Given the description of an element on the screen output the (x, y) to click on. 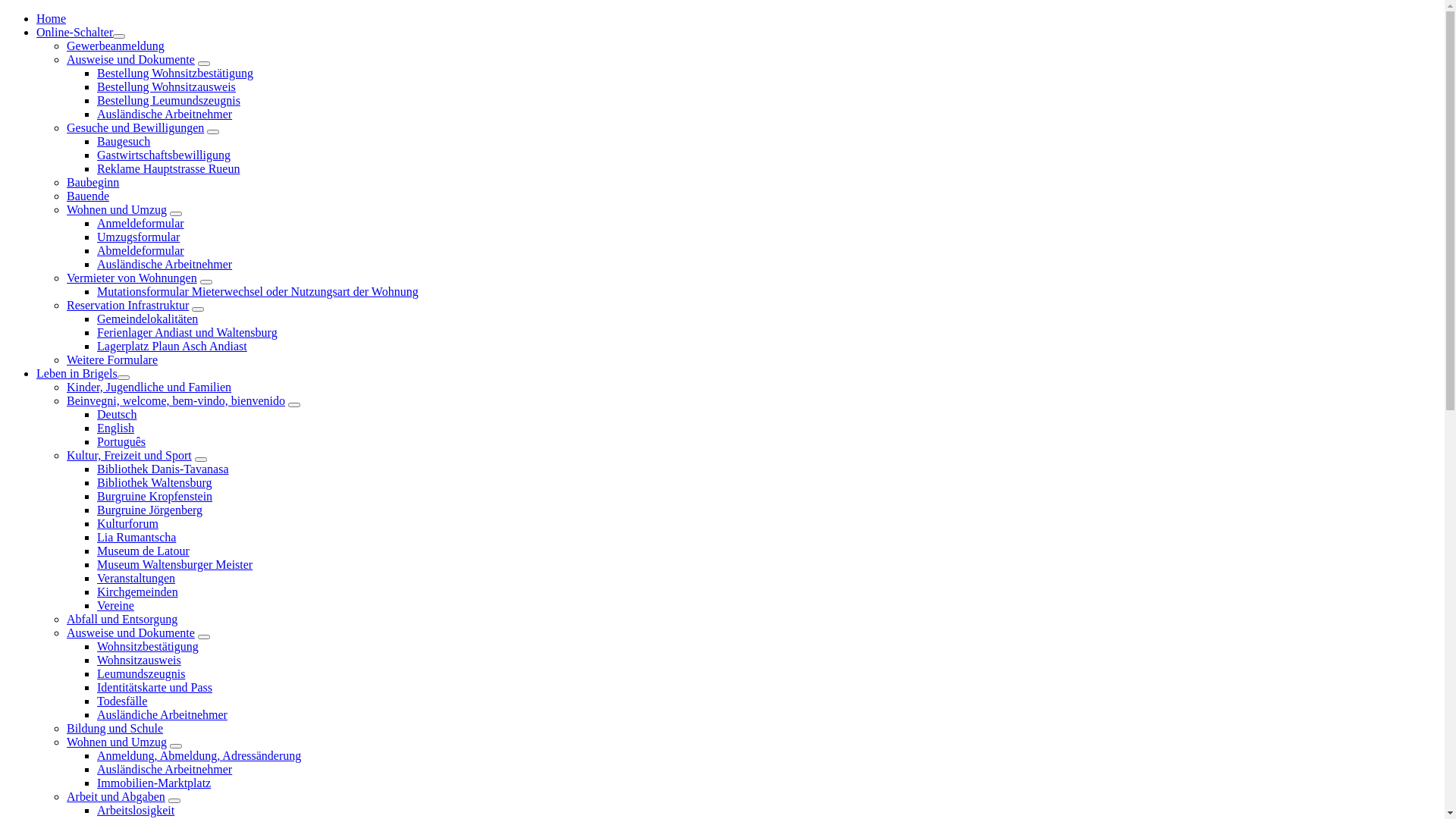
Wohnen und Umzug Element type: text (116, 741)
Arbeit und Abgaben Element type: text (115, 796)
Bestellung Wohnsitzausweis Element type: text (166, 86)
Vermieter von Wohnungen Element type: text (131, 277)
Bauende Element type: text (87, 195)
Burgruine Kropfenstein Element type: text (154, 495)
Reservation Infrastruktur Element type: text (127, 304)
Wohnen und Umzug Element type: text (116, 209)
Gastwirtschaftsbewilligung Element type: text (163, 154)
Anmeldeformular Element type: text (140, 222)
Kirchgemeinden Element type: text (137, 591)
Wohnsitzausweis Element type: text (139, 659)
Vereine Element type: text (115, 605)
Bildung und Schule Element type: text (114, 727)
Immobilien-Marktplatz Element type: text (153, 782)
Arbeitslosigkeit Element type: text (135, 809)
Weitere Formulare Element type: text (111, 359)
Leumundszeugnis Element type: text (141, 673)
Kultur, Freizeit und Sport Element type: text (128, 454)
Baugesuch Element type: text (123, 140)
Ausweise und Dokumente Element type: text (130, 59)
Veranstaltungen Element type: text (136, 577)
Deutsch Element type: text (116, 413)
Beinvegni, welcome, bem-vindo, bienvenido Element type: text (175, 400)
Kulturforum Element type: text (127, 523)
Kinder, Jugendliche und Familien Element type: text (148, 386)
Leben in Brigels Element type: text (76, 373)
Bibliothek Waltensburg Element type: text (154, 482)
Lagerplatz Plaun Asch Andiast Element type: text (172, 345)
Baubeginn Element type: text (92, 181)
English Element type: text (115, 427)
Museum de Latour Element type: text (143, 550)
Mutationsformular Mieterwechsel oder Nutzungsart der Wohnung Element type: text (257, 291)
Abfall und Entsorgung Element type: text (121, 618)
Bibliothek Danis-Tavanasa Element type: text (163, 468)
Abmeldeformular Element type: text (140, 250)
Lia Rumantscha Element type: text (136, 536)
Bestellung Leumundszeugnis Element type: text (168, 100)
Home Element type: text (50, 18)
Ferienlager Andiast und Waltensburg Element type: text (187, 332)
Reklame Hauptstrasse Rueun Element type: text (168, 168)
Online-Schalter Element type: text (74, 31)
Umzugsformular Element type: text (138, 236)
Gesuche und Bewilligungen Element type: text (134, 127)
Museum Waltensburger Meister Element type: text (174, 564)
Gewerbeanmeldung Element type: text (115, 45)
Ausweise und Dokumente Element type: text (130, 632)
